Given the description of an element on the screen output the (x, y) to click on. 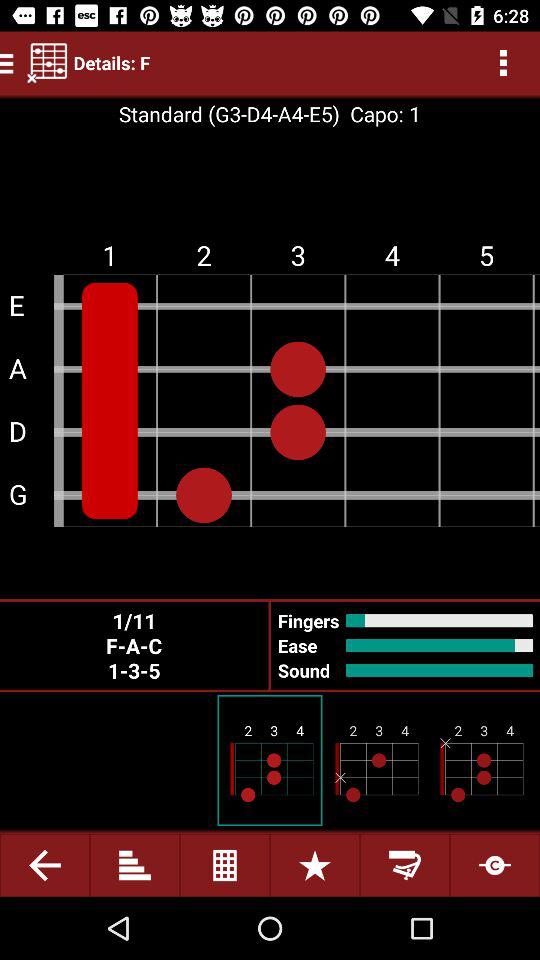
select 1 11 f icon (134, 645)
